Given the description of an element on the screen output the (x, y) to click on. 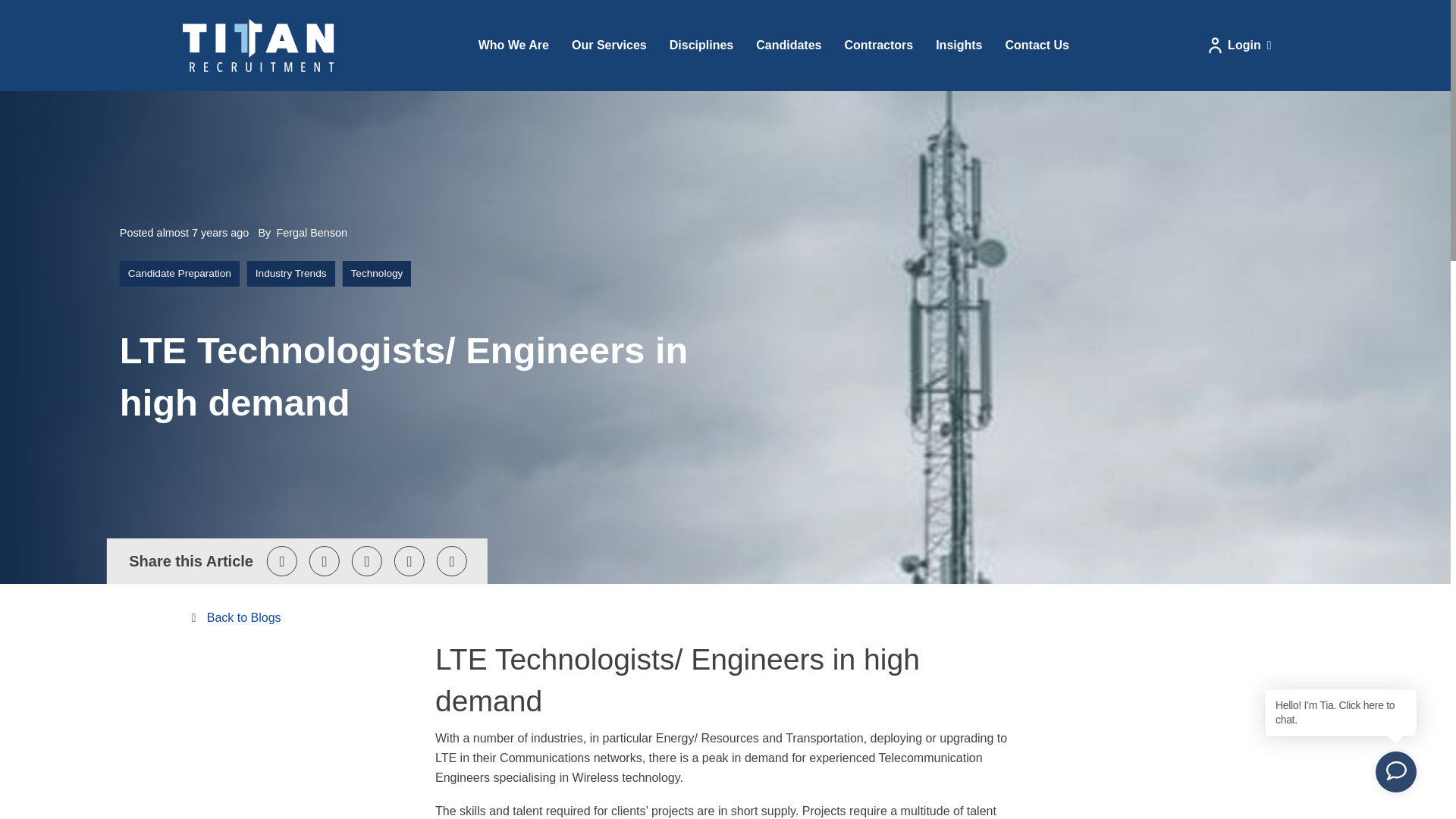
Disciplines (701, 45)
Contractors (878, 45)
Who We Are (513, 45)
Chatbot (1340, 735)
Login (1239, 45)
Our Services (609, 45)
Go to the Homepage (258, 43)
Candidates (788, 45)
Insights (958, 45)
Contact Us (1036, 45)
